Given the description of an element on the screen output the (x, y) to click on. 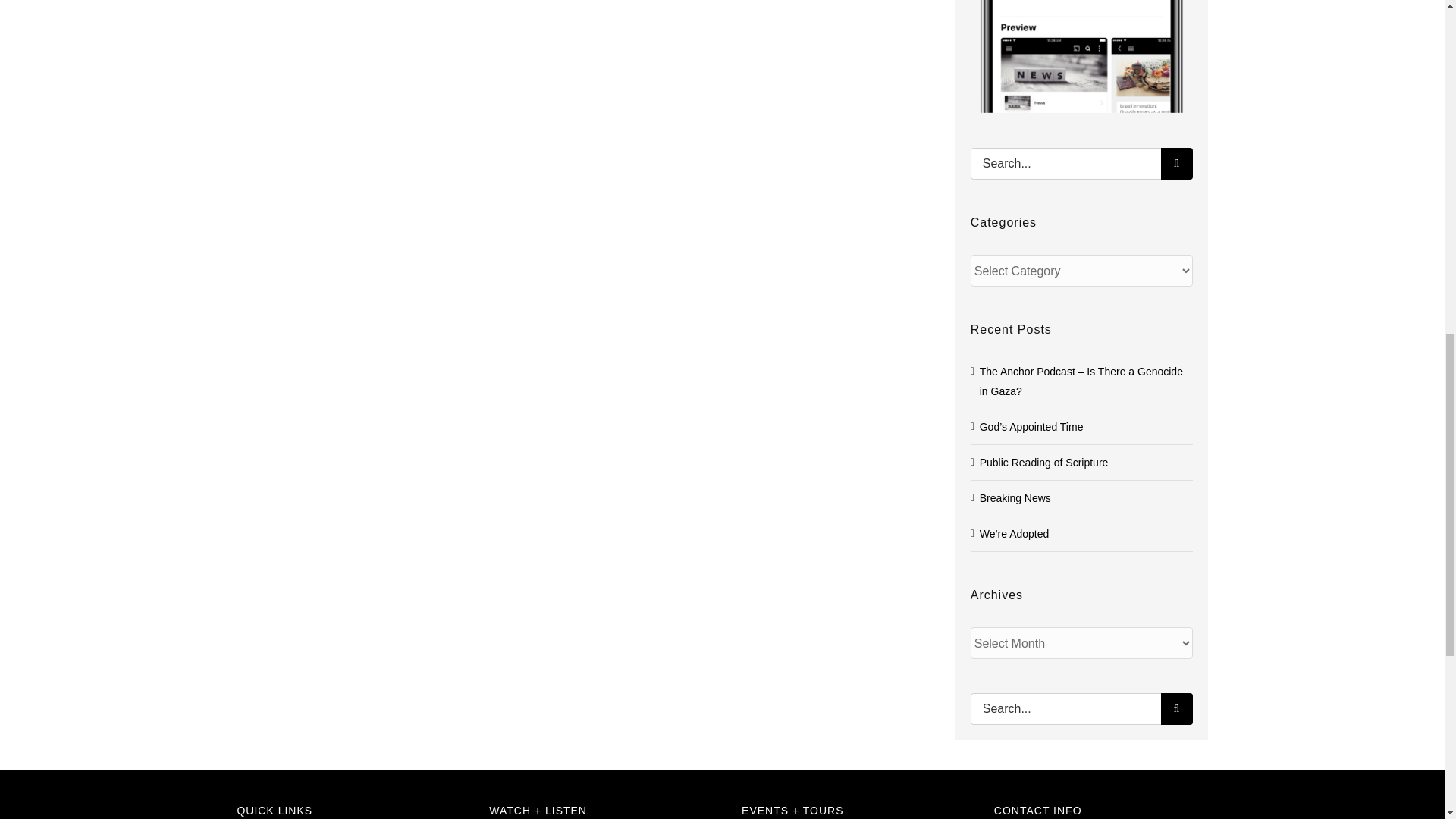
app-phone-mock-2019 (1080, 56)
